Given the description of an element on the screen output the (x, y) to click on. 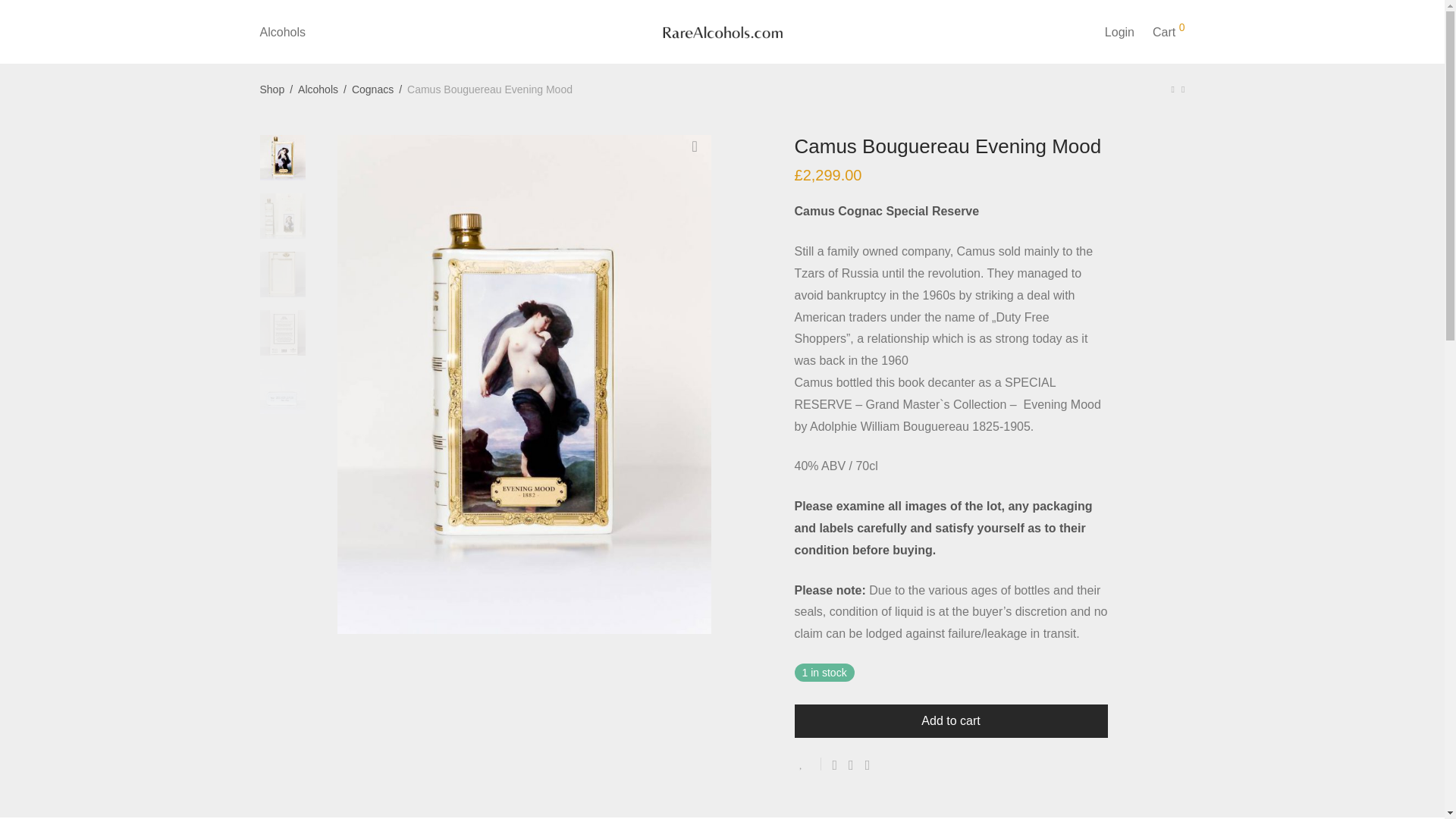
Alcohols (282, 32)
Shop (271, 88)
Alcohols (317, 88)
Login (1119, 32)
Add to Wishlist (807, 763)
Cognacs (372, 88)
Cart 0 (1167, 32)
Add to cart (951, 720)
